Given the description of an element on the screen output the (x, y) to click on. 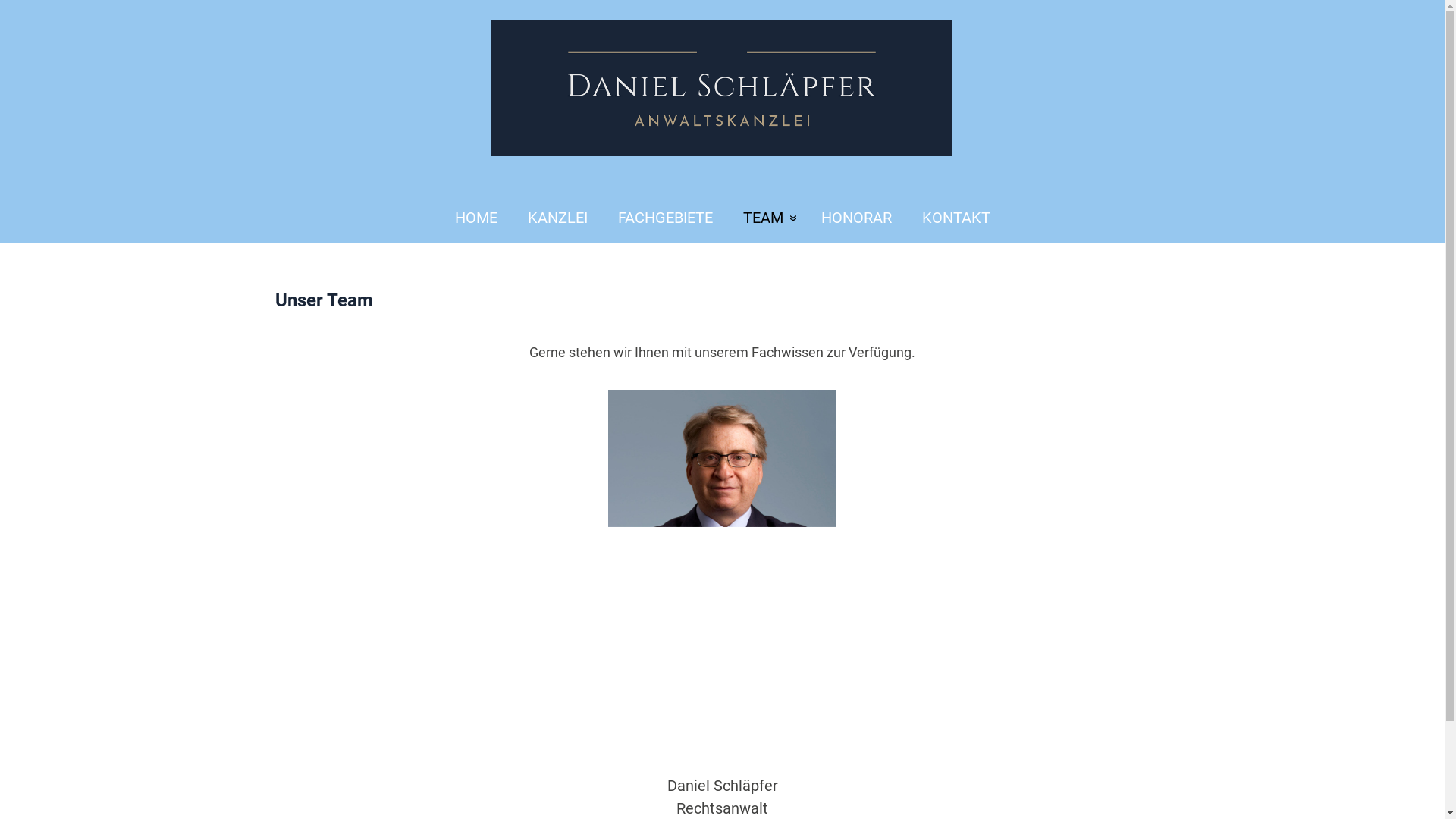
KANZLEI Element type: text (557, 217)
HOME Element type: text (468, 217)
KONTAKT Element type: text (963, 217)
TEAM Element type: text (767, 217)
FACHGEBIETE Element type: text (664, 217)
HONORAR Element type: text (855, 217)
